Given the description of an element on the screen output the (x, y) to click on. 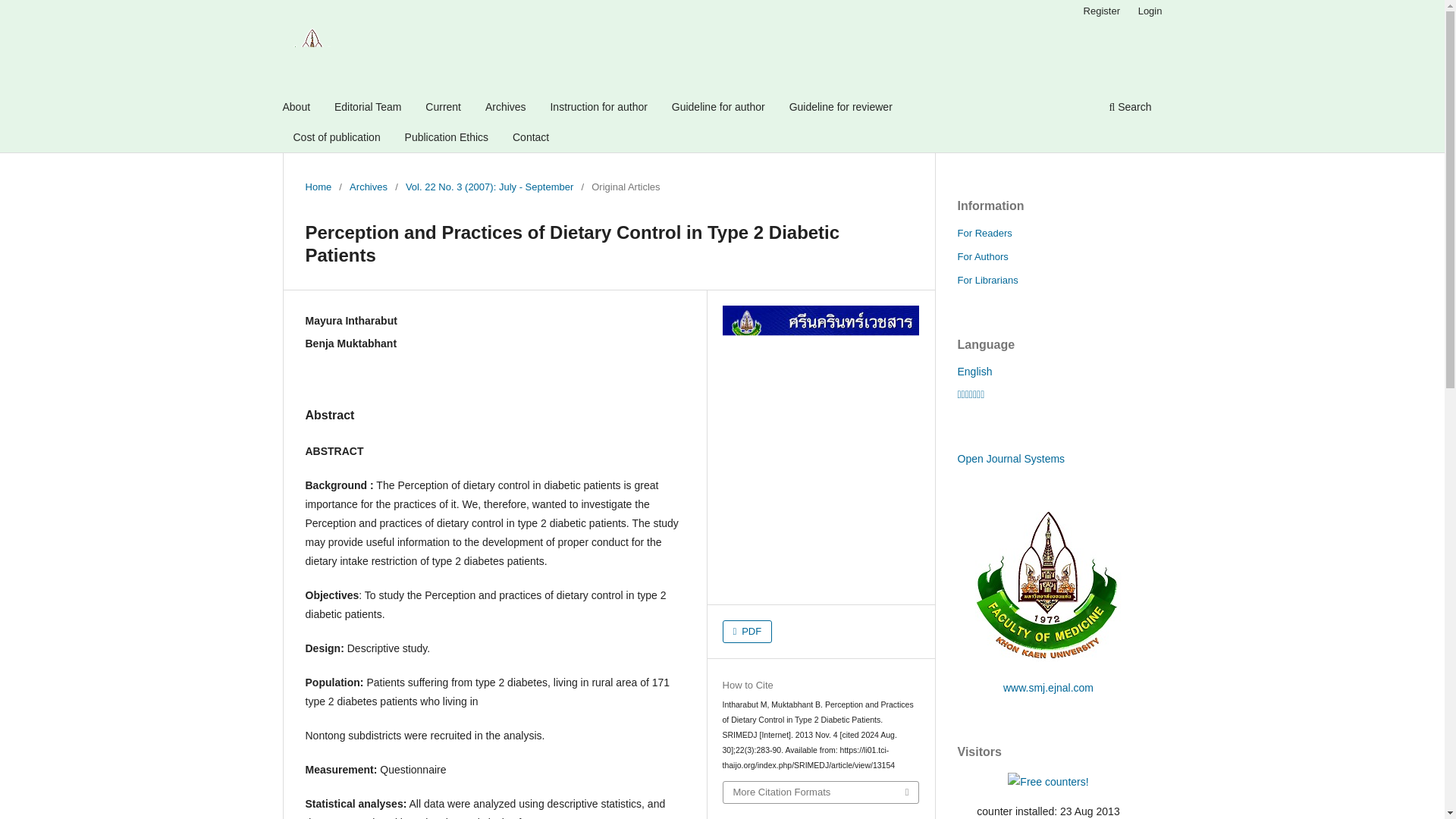
PDF (747, 630)
Editorial Team (367, 108)
Login (1150, 11)
Register (1100, 11)
Current (442, 108)
More Citation Formats (820, 792)
Archives (368, 186)
Guideline for author (718, 108)
Home (317, 186)
About (296, 108)
